Given the description of an element on the screen output the (x, y) to click on. 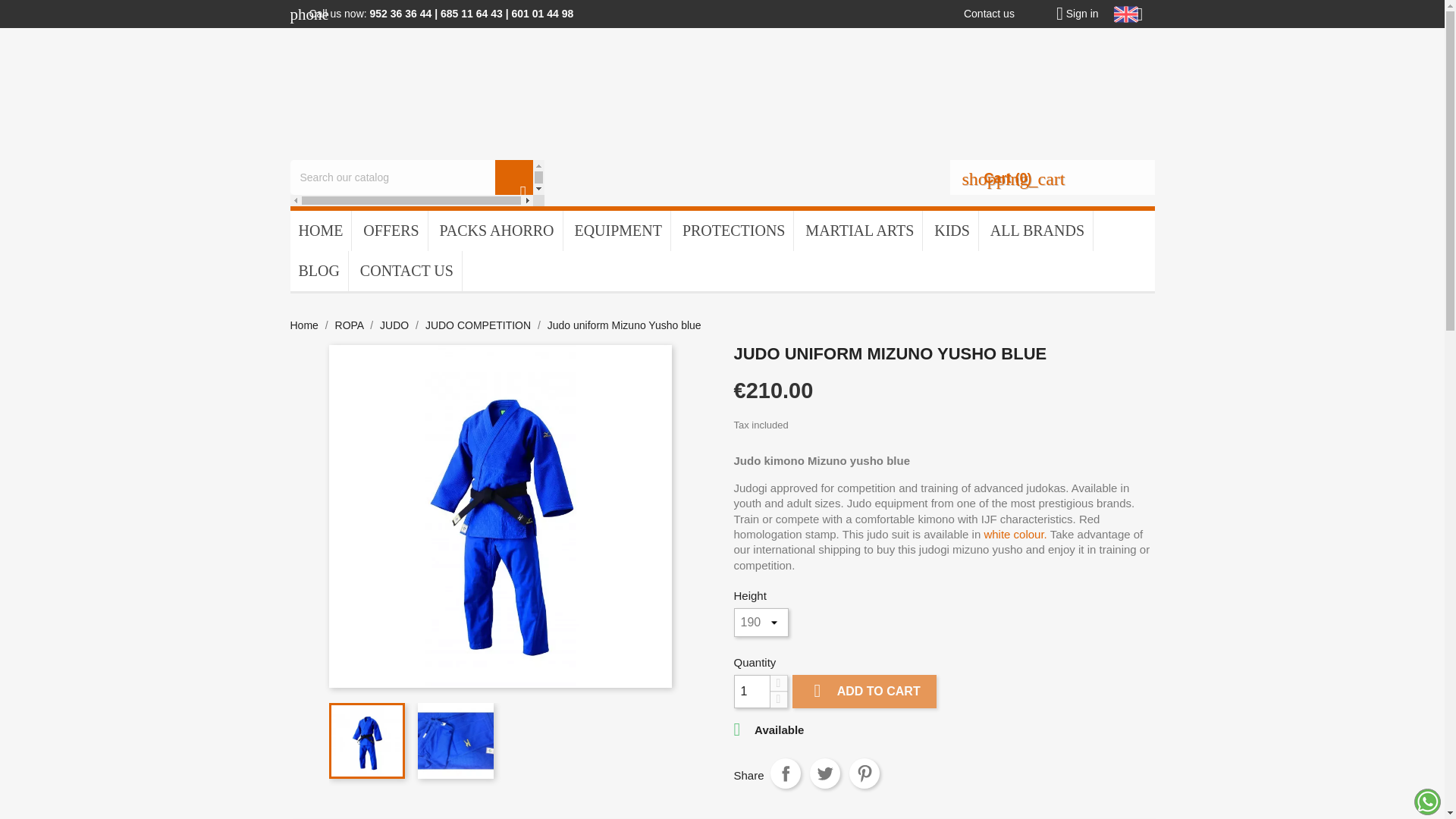
601 01 44 98 (542, 13)
 Mizuno Yusho Judogi blue (455, 740)
 Mizuno Yusho Judogi blue (366, 740)
EQUIPMENT (617, 230)
Contact us (988, 13)
PACKS AHORRO (496, 230)
Share (785, 773)
Tweet (824, 773)
 Mizuno Yusho Judogi blue (500, 515)
1 (751, 691)
Pinterest (863, 773)
952 36 36 44 (400, 13)
Log in to your customer account (1072, 13)
OFFERS (390, 230)
685 11 64 43 (471, 13)
